Given the description of an element on the screen output the (x, y) to click on. 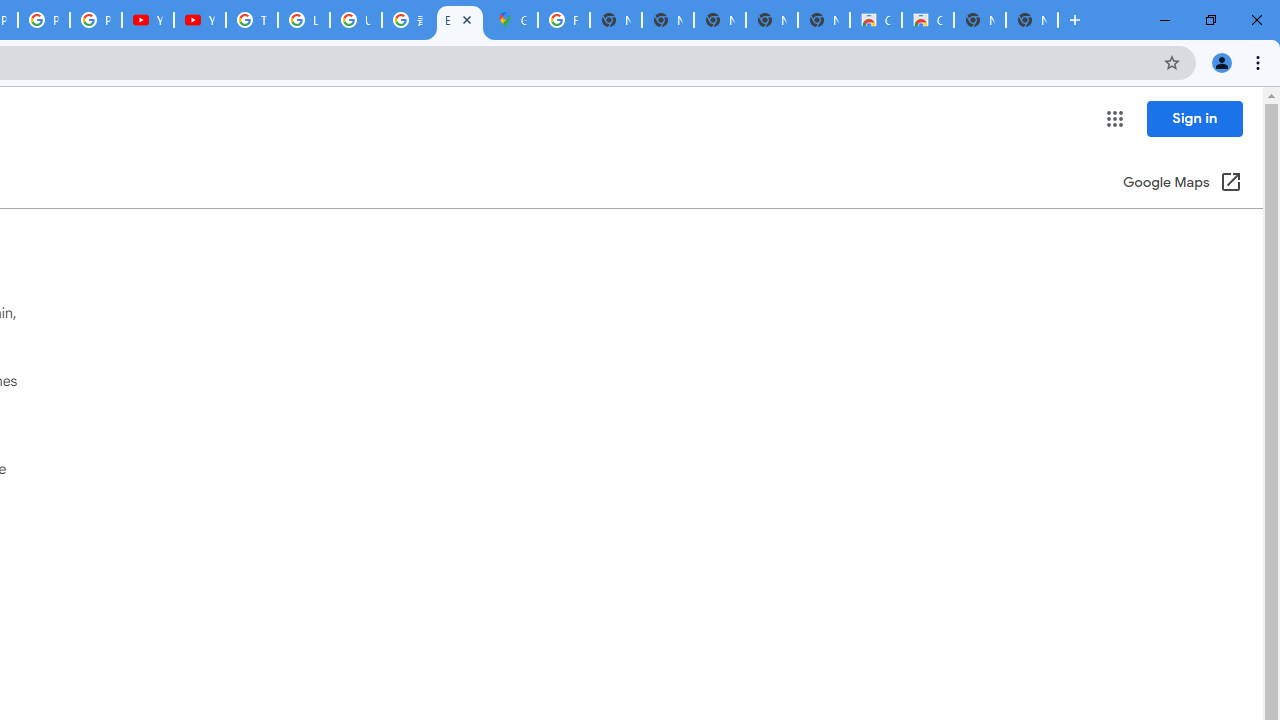
Privacy Checkup (95, 20)
Classic Blue - Chrome Web Store (875, 20)
Classic Blue - Chrome Web Store (927, 20)
Tips & tricks for Chrome - Google Chrome Help (251, 20)
Google Maps (Open in a new window) (1182, 183)
Privacy Checkup (43, 20)
